Given the description of an element on the screen output the (x, y) to click on. 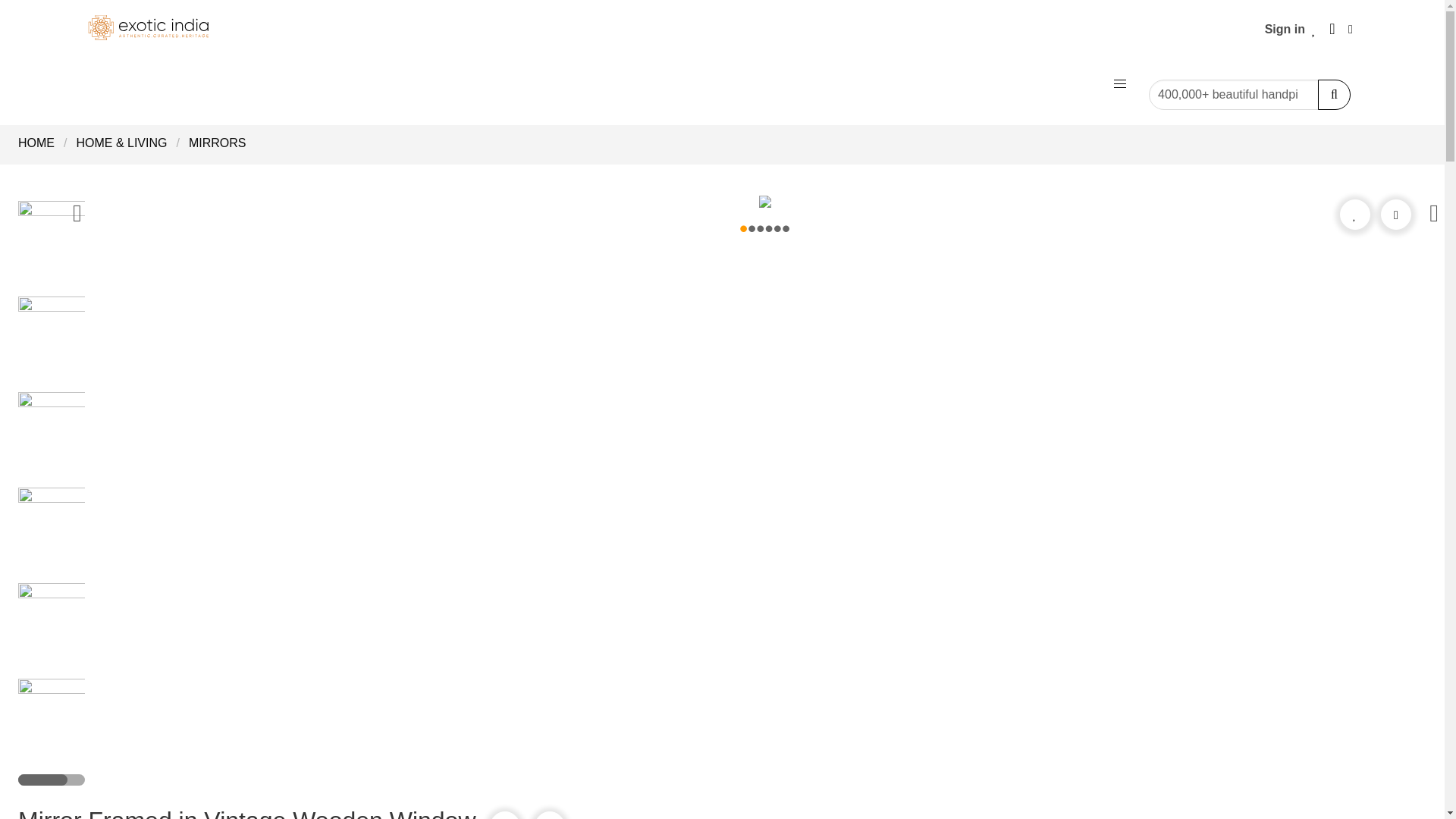
Mirror Framed in Vintage Wooden Window (63, 725)
Mirror Framed in Vintage Wooden Window (63, 630)
Mirror Framed in Vintage Wooden Window (63, 344)
Mirror Framed in Vintage Wooden Window (63, 248)
MIRRORS (217, 143)
Mirror Framed in Vintage Wooden Window (63, 535)
Save to Wishlist (1354, 214)
Mirror Framed in Vintage Wooden Window (63, 439)
HOME (40, 143)
Sign in (1284, 29)
Wishlist (1313, 29)
Sign in (1284, 29)
Home (40, 143)
Mirrors (217, 143)
